Given the description of an element on the screen output the (x, y) to click on. 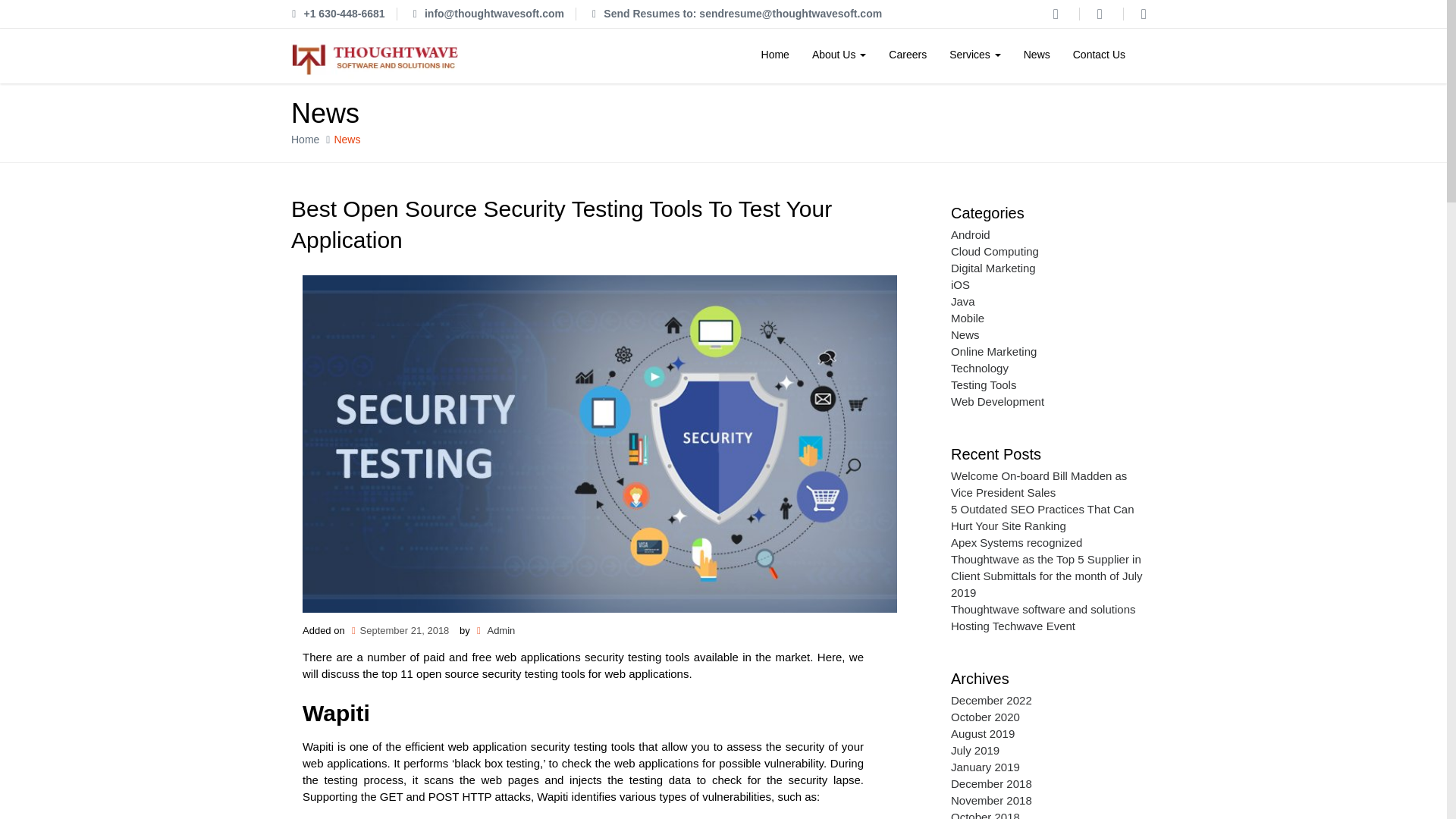
Home (774, 55)
Mobile (967, 318)
Admin (499, 630)
Careers (907, 55)
Online Marketing (993, 350)
Java (962, 300)
Cloud Computing (994, 250)
Contact Us (1099, 55)
Digital Marketing (992, 267)
News (1036, 55)
